Given the description of an element on the screen output the (x, y) to click on. 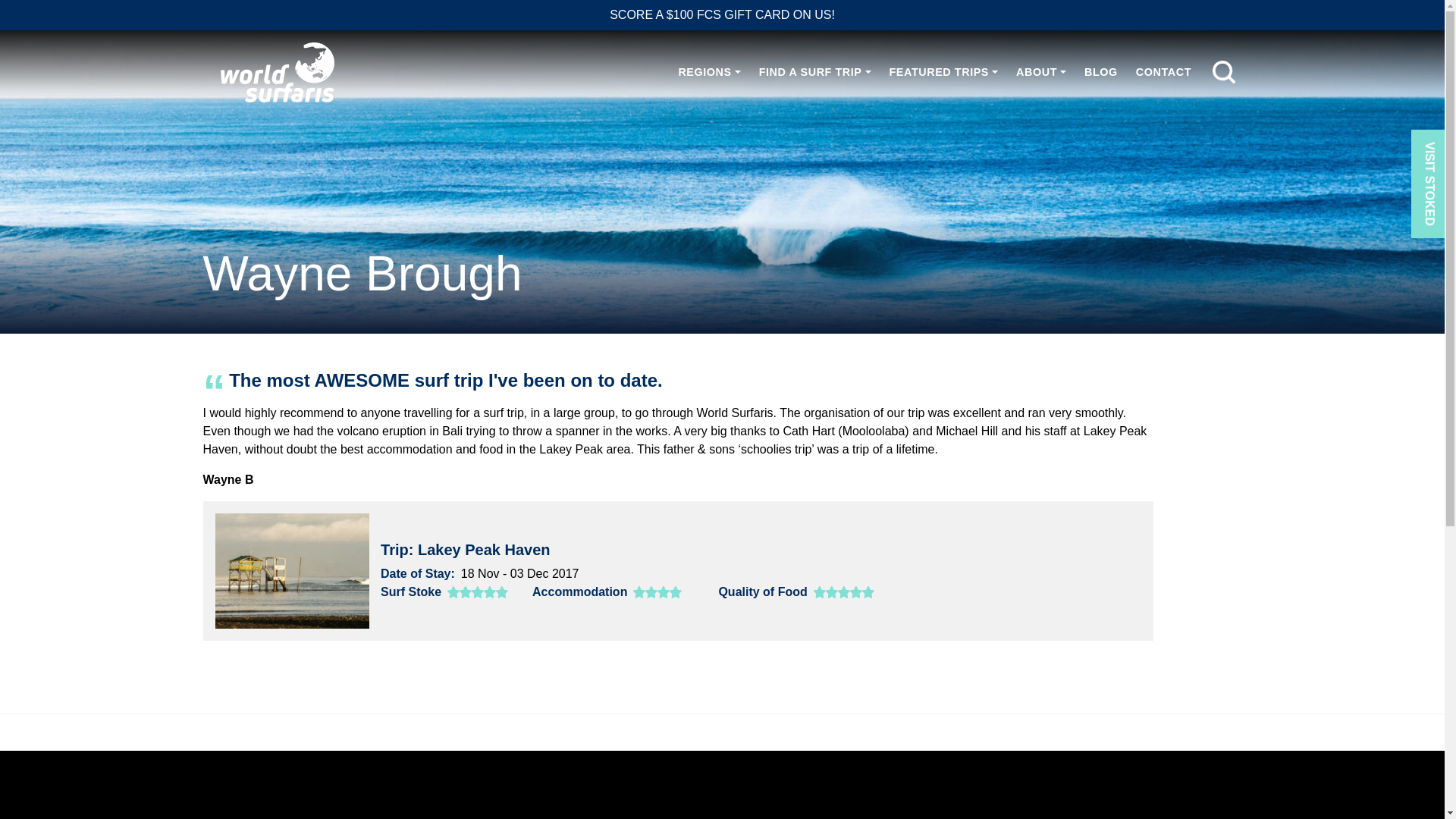
FIND A SURF TRIP (814, 71)
REGIONS (708, 71)
World Surfaris (277, 72)
FEATURED TRIPS (943, 71)
